Given the description of an element on the screen output the (x, y) to click on. 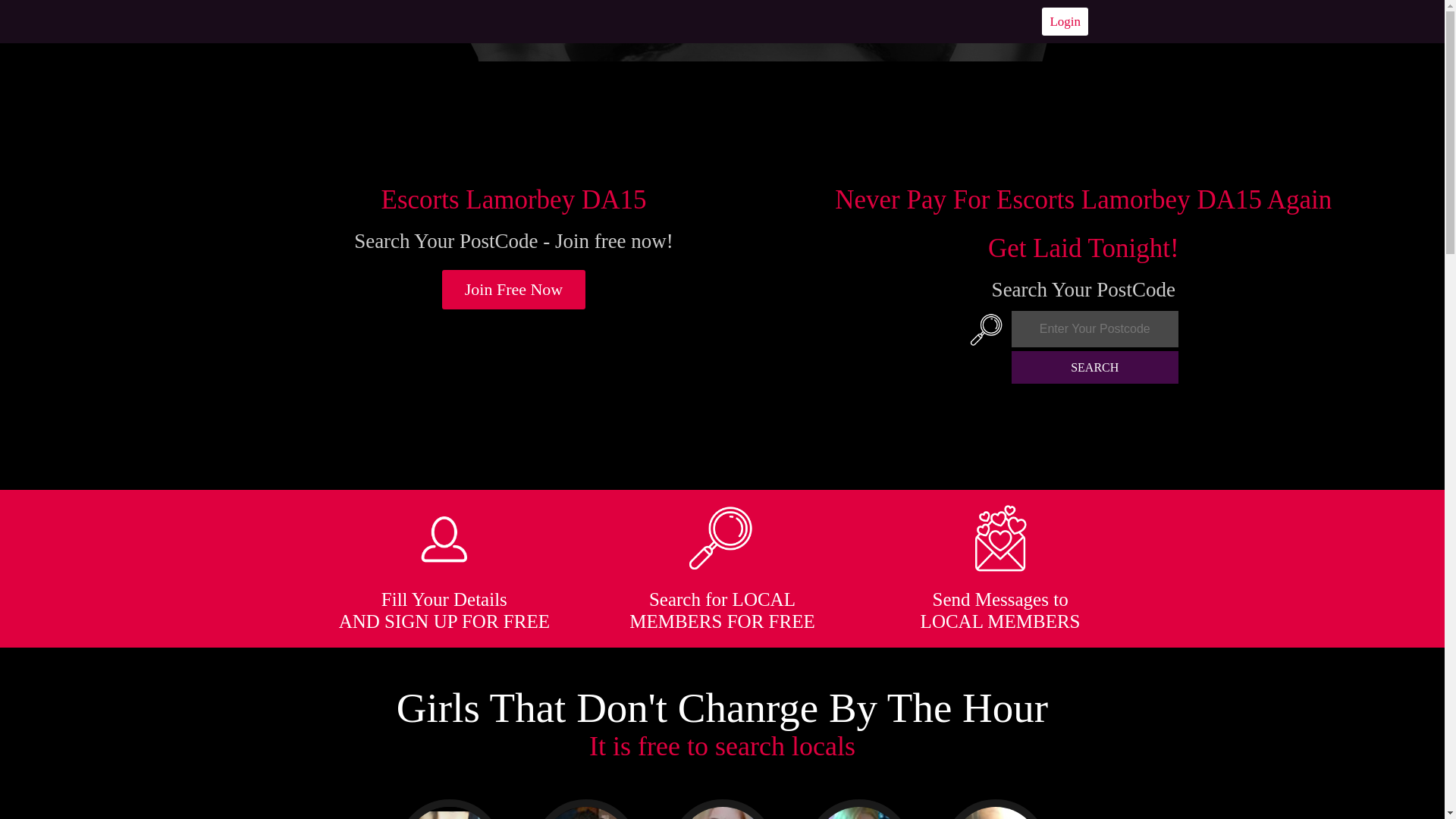
Join (514, 289)
Login (1064, 21)
Join Free Now (514, 289)
SEARCH (1094, 367)
Login to escort-london.uk (1064, 21)
